Given the description of an element on the screen output the (x, y) to click on. 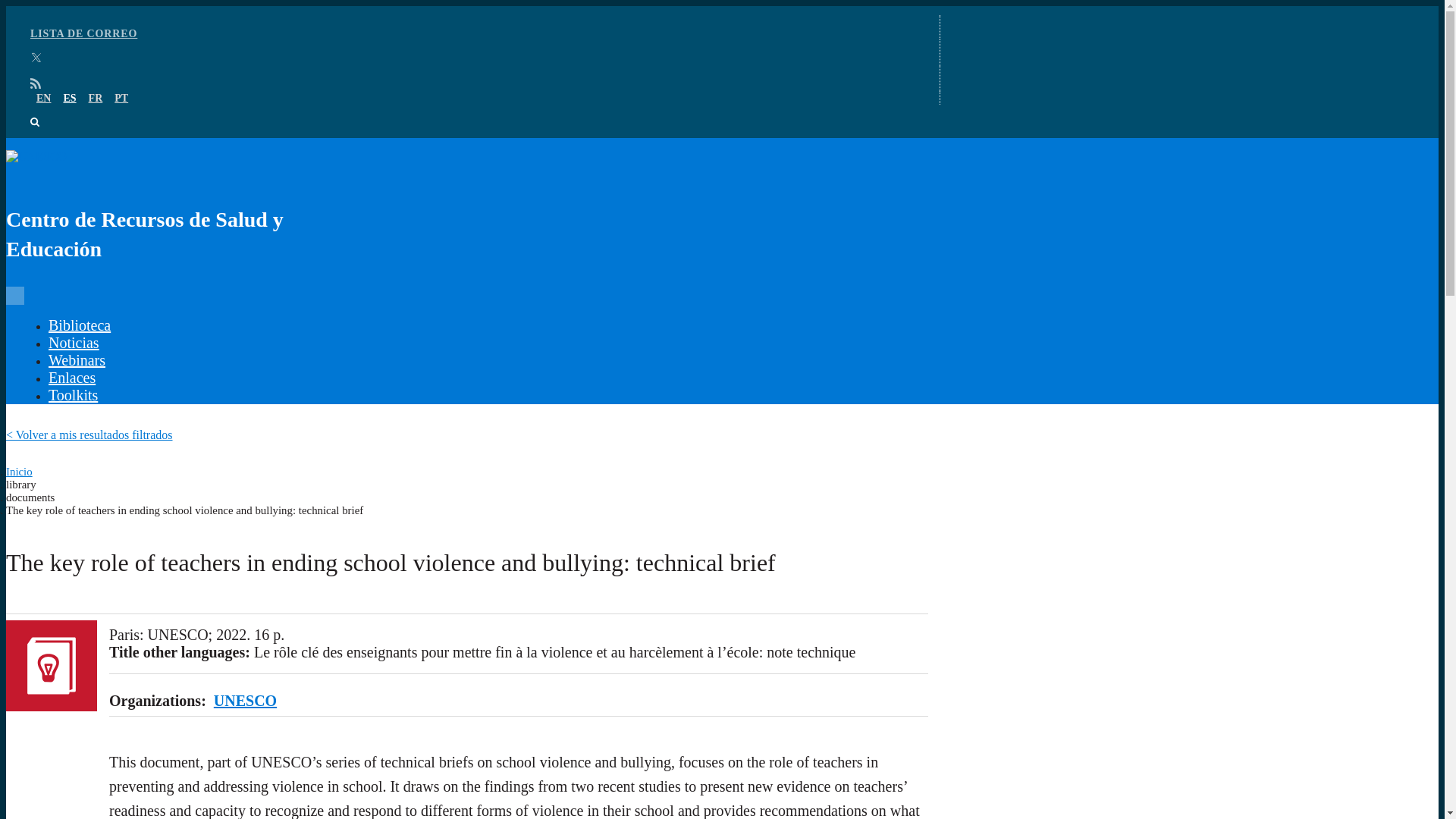
LISTA DE CORREO (83, 33)
ES (68, 98)
Biblioteca (79, 324)
Toolkits (72, 394)
EN (43, 98)
Pasar al contenido principal (722, 7)
Enlaces (72, 377)
FR (95, 98)
PT (121, 98)
Inicio (18, 471)
